Given the description of an element on the screen output the (x, y) to click on. 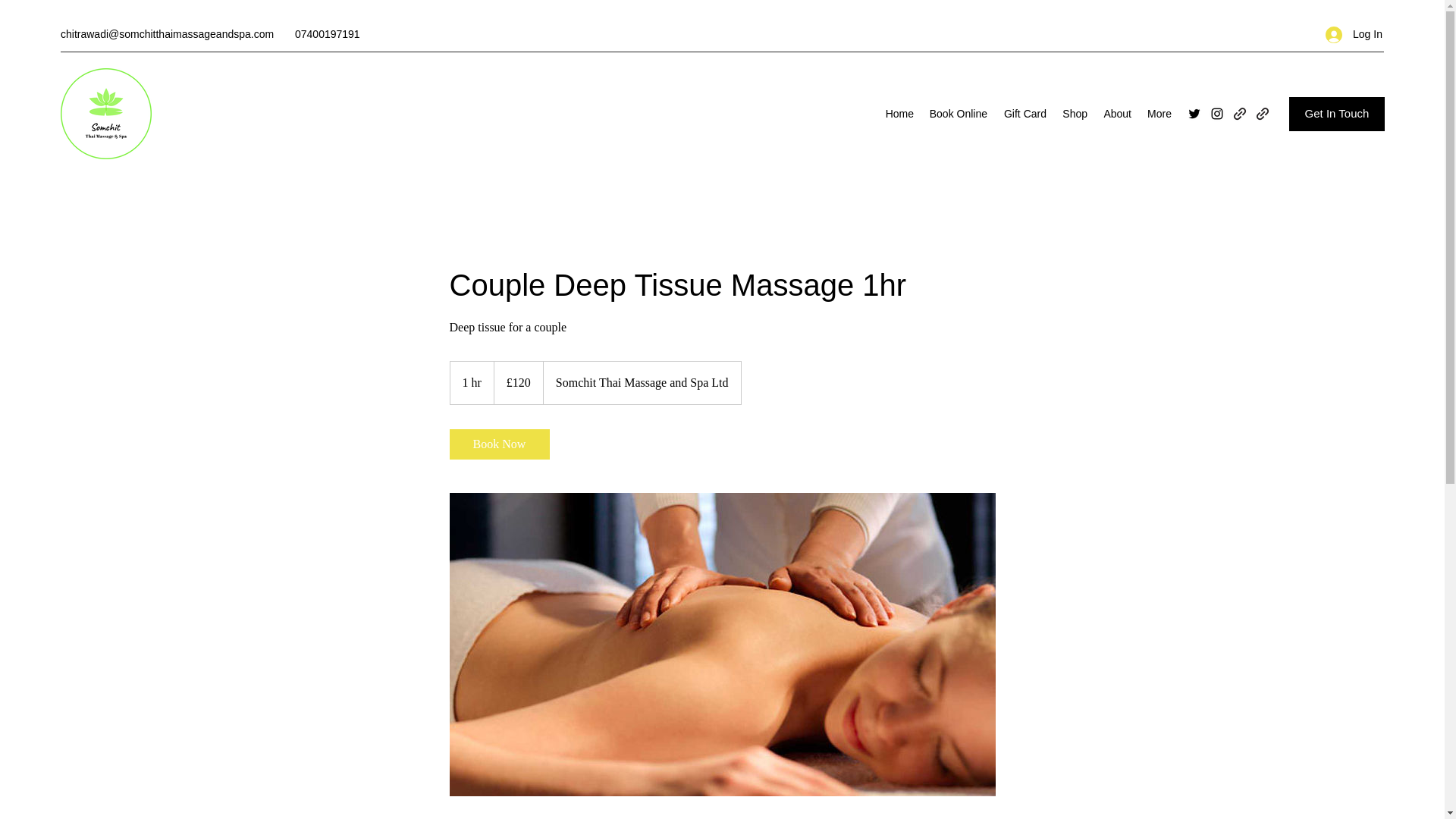
Shop (1074, 113)
Get In Touch (1336, 114)
Log In (1348, 34)
Book Now (498, 444)
Home (899, 113)
About (1116, 113)
Gift Card (1024, 113)
Book Online (957, 113)
